Given the description of an element on the screen output the (x, y) to click on. 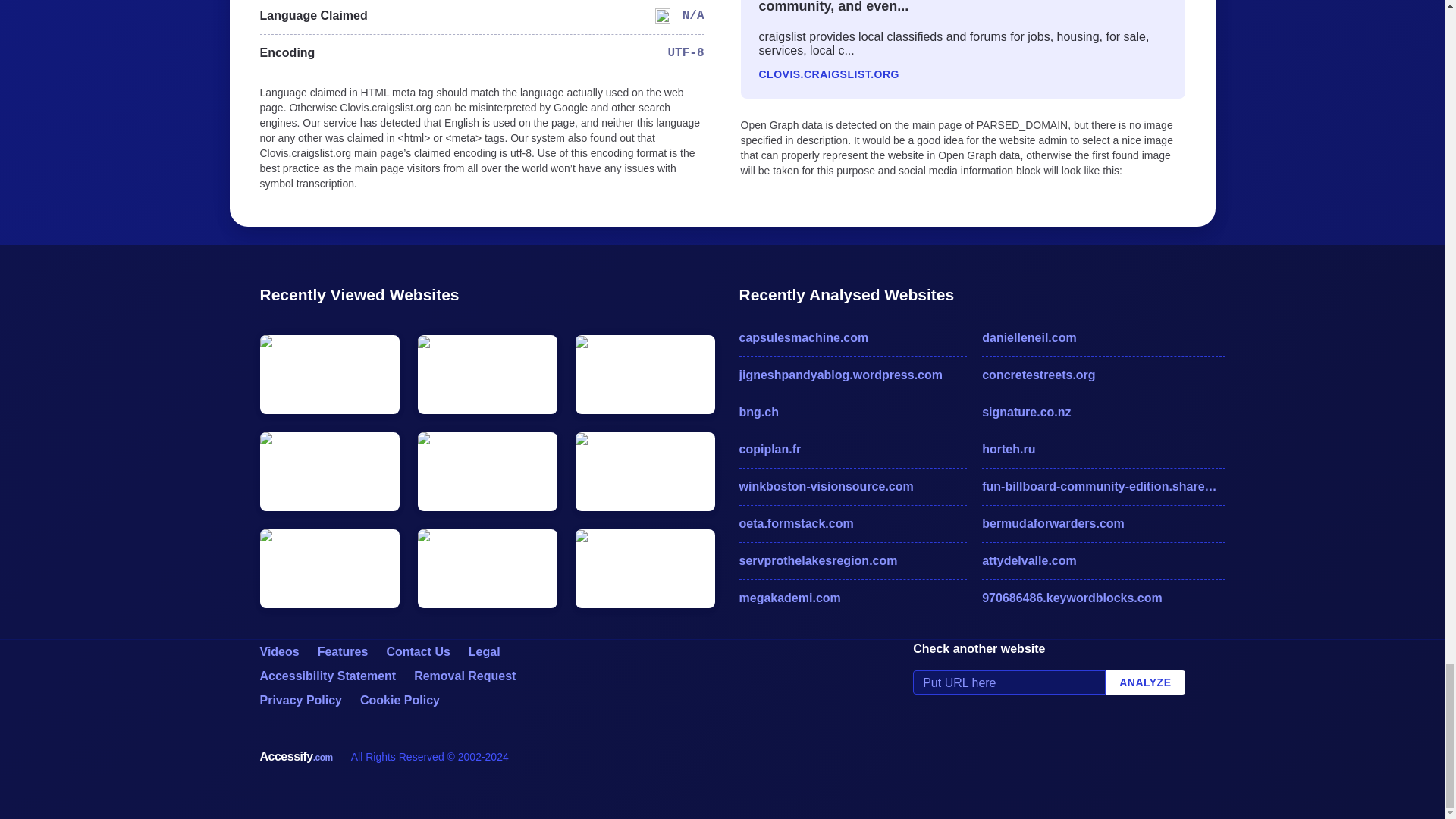
Contact Us (417, 651)
signature.co.nz (1103, 412)
servprothelakesregion.com (852, 561)
970686486.keywordblocks.com (1103, 597)
fun-billboard-community-edition.shareware.de (1103, 486)
bermudaforwarders.com (1103, 524)
concretestreets.org (1103, 375)
Screencasts: video tutorials and guides (278, 651)
oeta.formstack.com (852, 524)
winkboston-visionsource.com (852, 486)
